Given the description of an element on the screen output the (x, y) to click on. 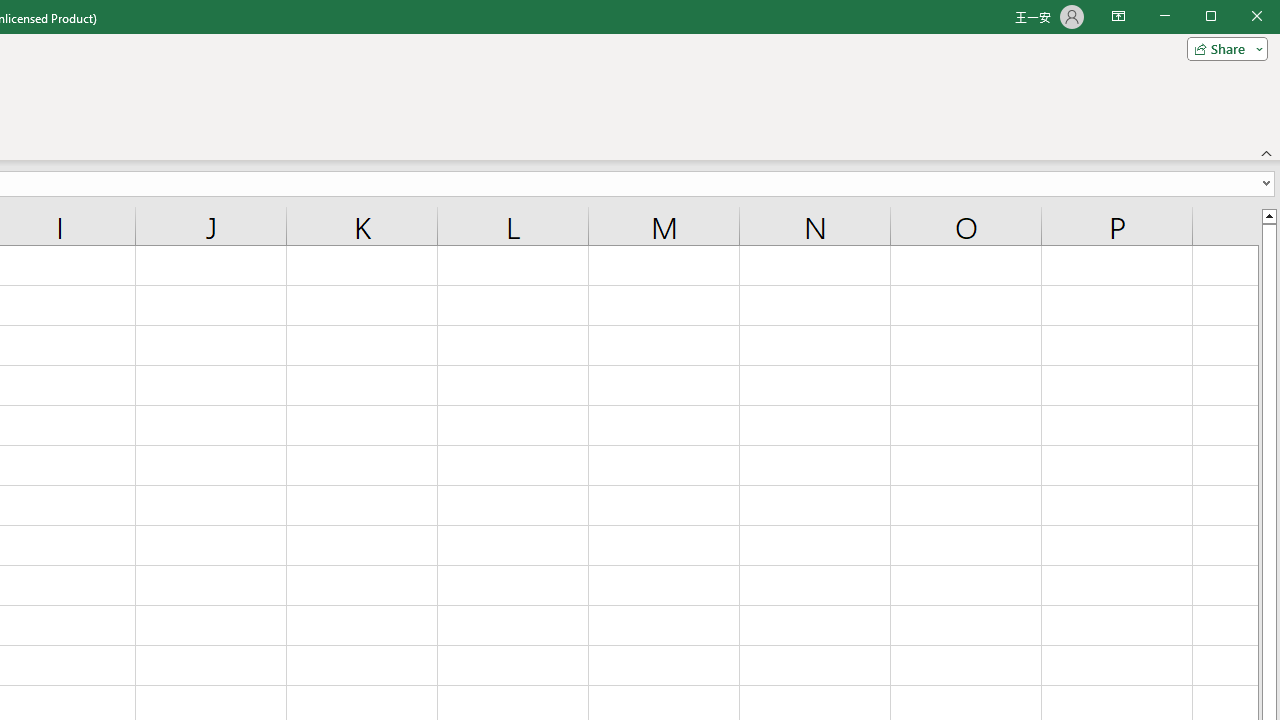
Maximize (1239, 17)
